Given the description of an element on the screen output the (x, y) to click on. 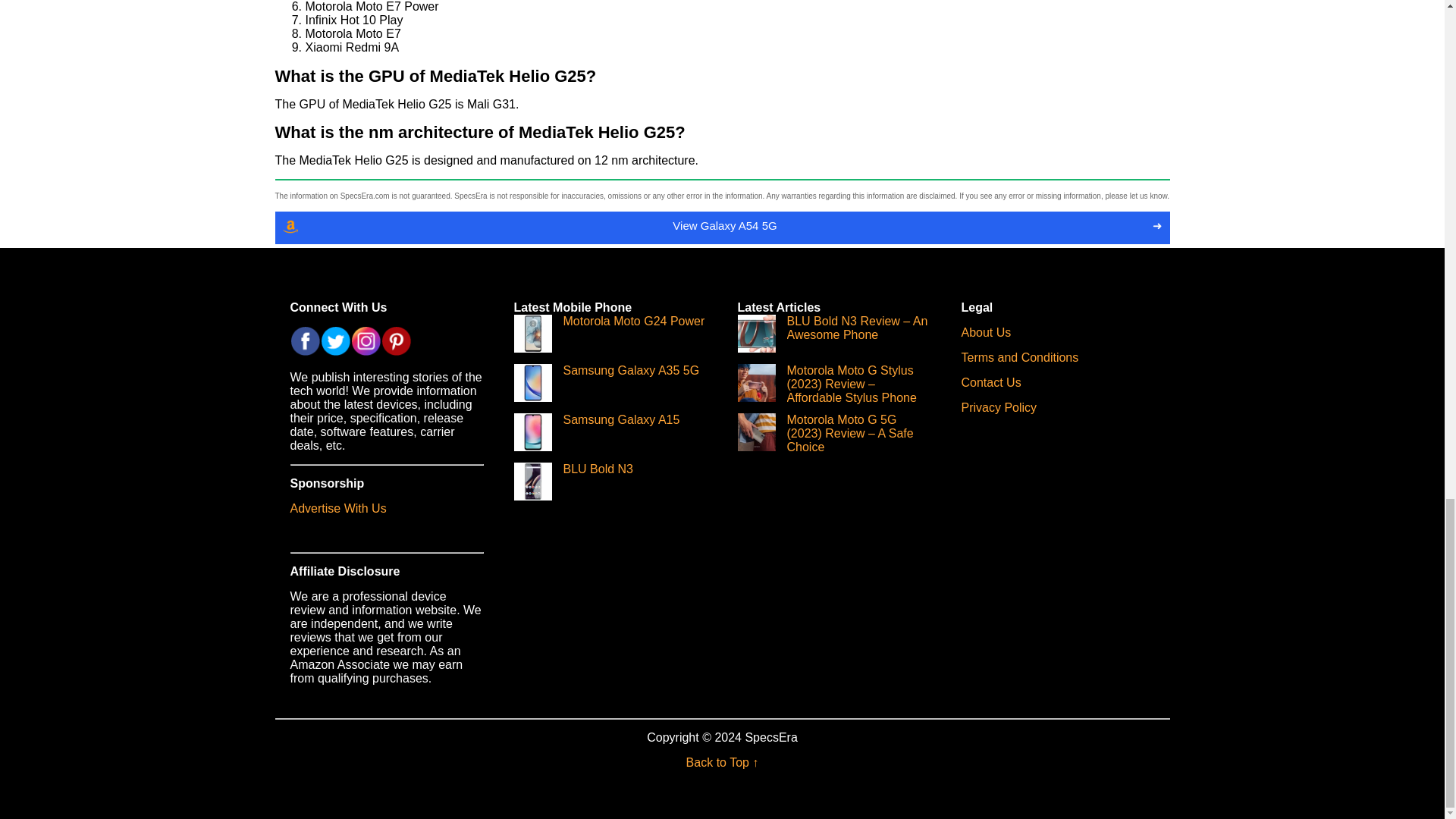
About Us (985, 331)
Advertise With Us (337, 507)
Terms and Conditions (1019, 357)
Contact Us (991, 381)
Privacy Policy (998, 407)
Motorola Moto G24 Power (608, 338)
Samsung Galaxy A35 5G (606, 387)
BLU Bold N3 (573, 486)
Samsung Galaxy A15 (596, 437)
